Given the description of an element on the screen output the (x, y) to click on. 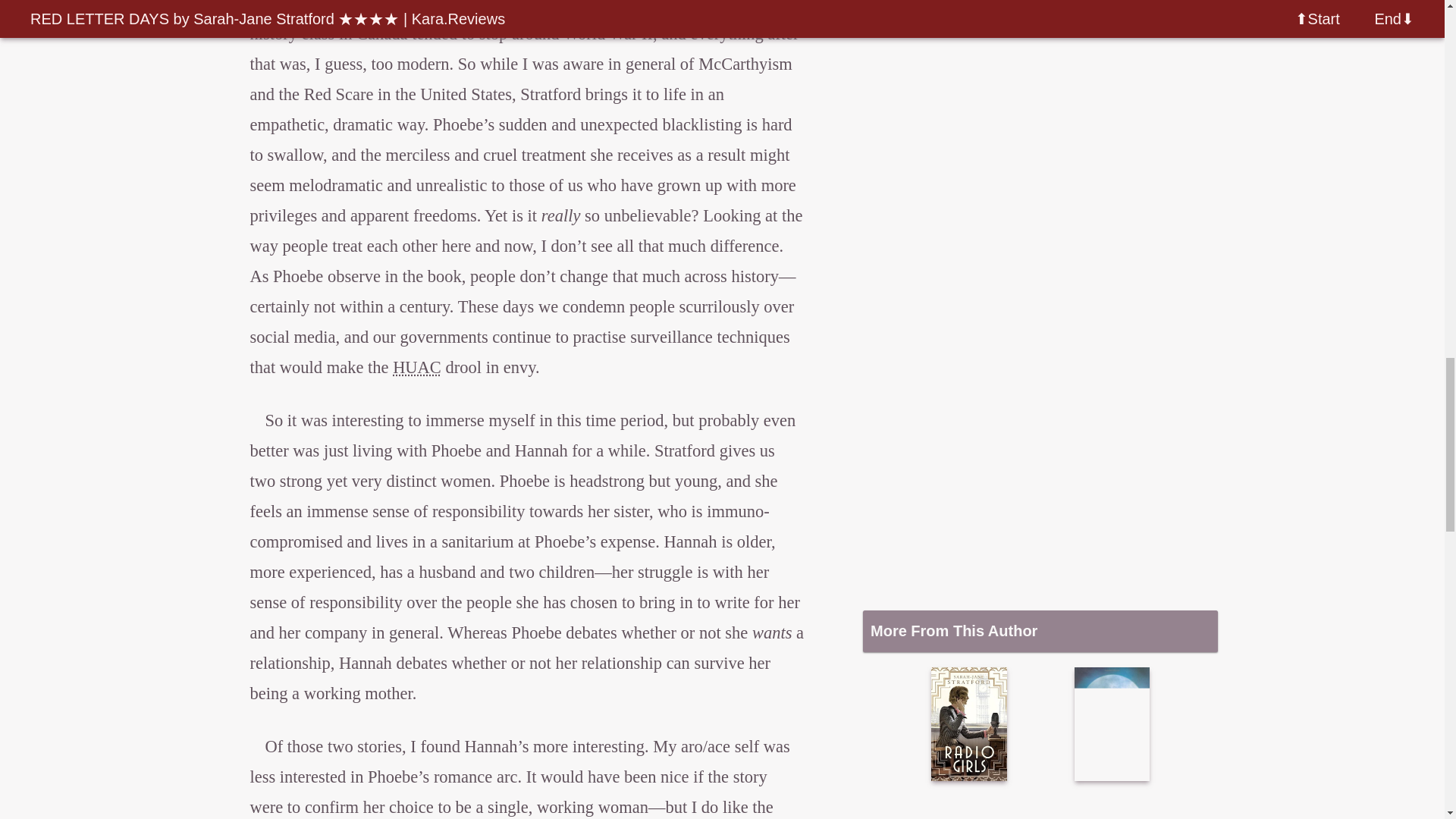
House Un-American Activities Committee (417, 366)
